Given the description of an element on the screen output the (x, y) to click on. 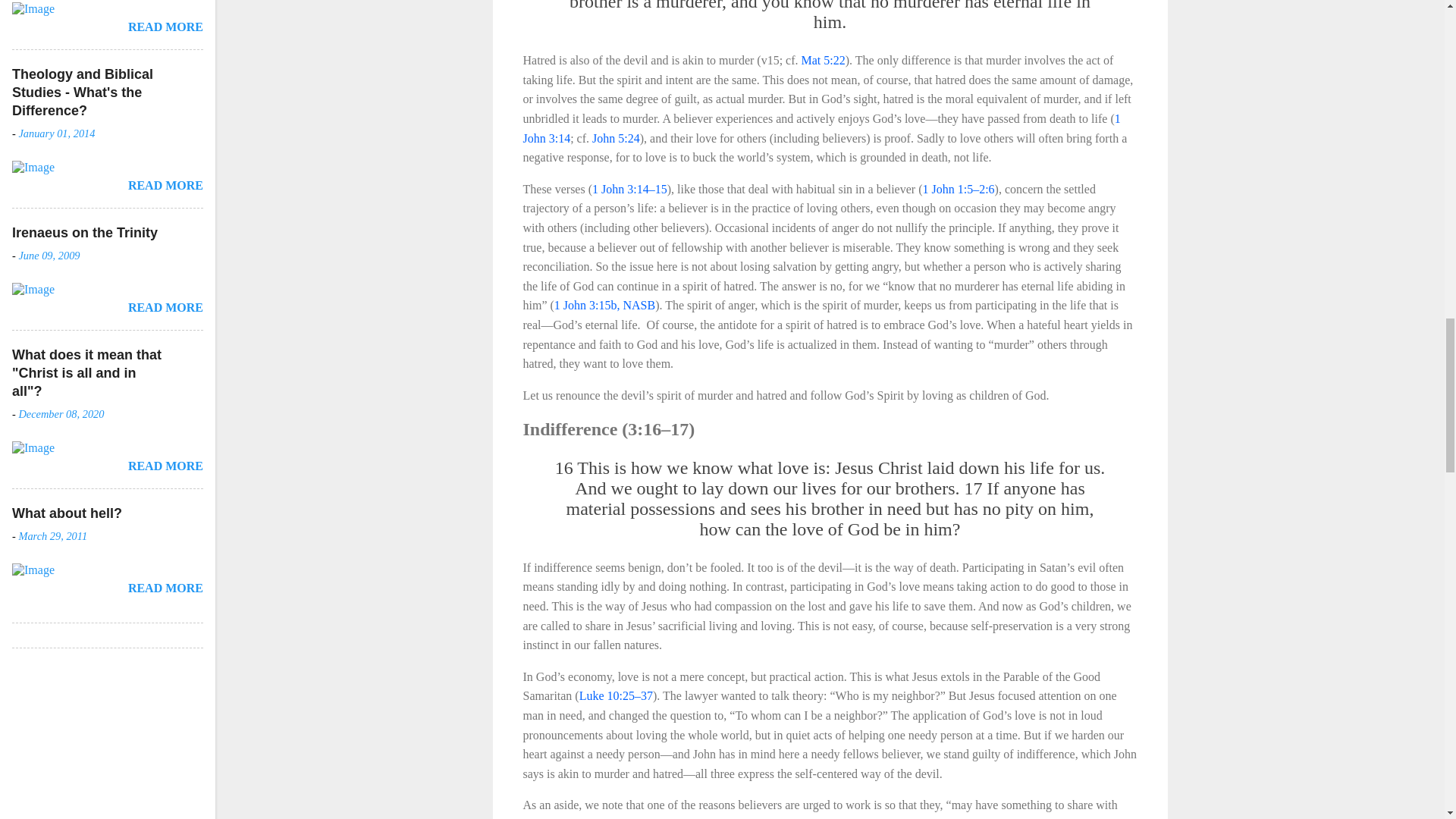
1 John 3:15b, NASB (604, 305)
1 John 3:14 (821, 128)
John 5:24 (616, 137)
Mat 5:22 (823, 60)
Eph 4:28 (620, 818)
